Given the description of an element on the screen output the (x, y) to click on. 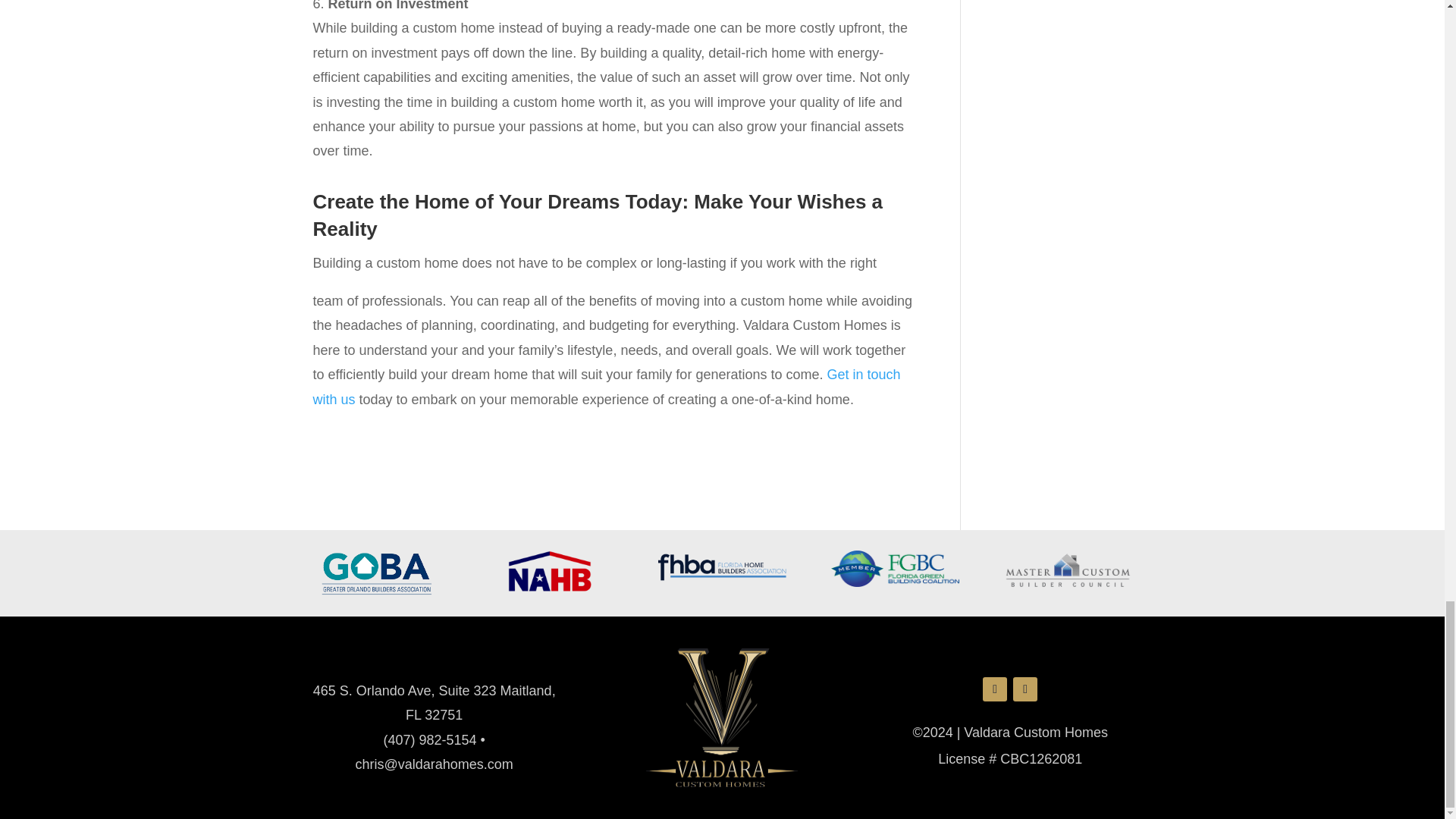
Get in touch with us (606, 386)
Follow on Instagram (1024, 689)
Valdara Custom Homes V (721, 717)
MCBC-logo (1067, 570)
GOBA (376, 573)
465 S. Orlando Ave, Suite 323 Maitland, FL 32751 (434, 702)
NAHB (549, 571)
FHBA (722, 566)
fgbc (894, 568)
Follow on Facebook (994, 689)
